Given the description of an element on the screen output the (x, y) to click on. 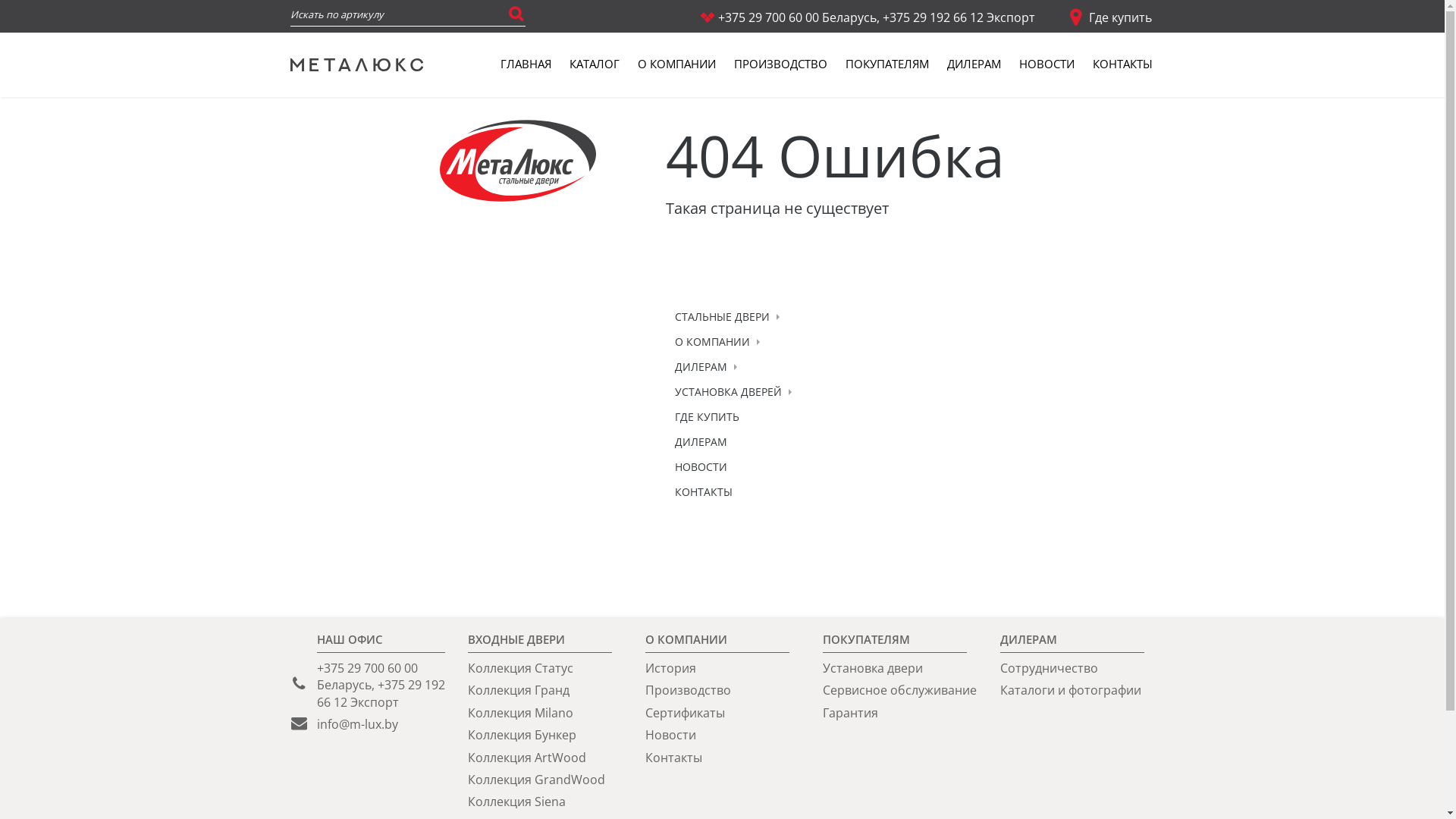
info@m-lux.by Element type: text (357, 723)
